Given the description of an element on the screen output the (x, y) to click on. 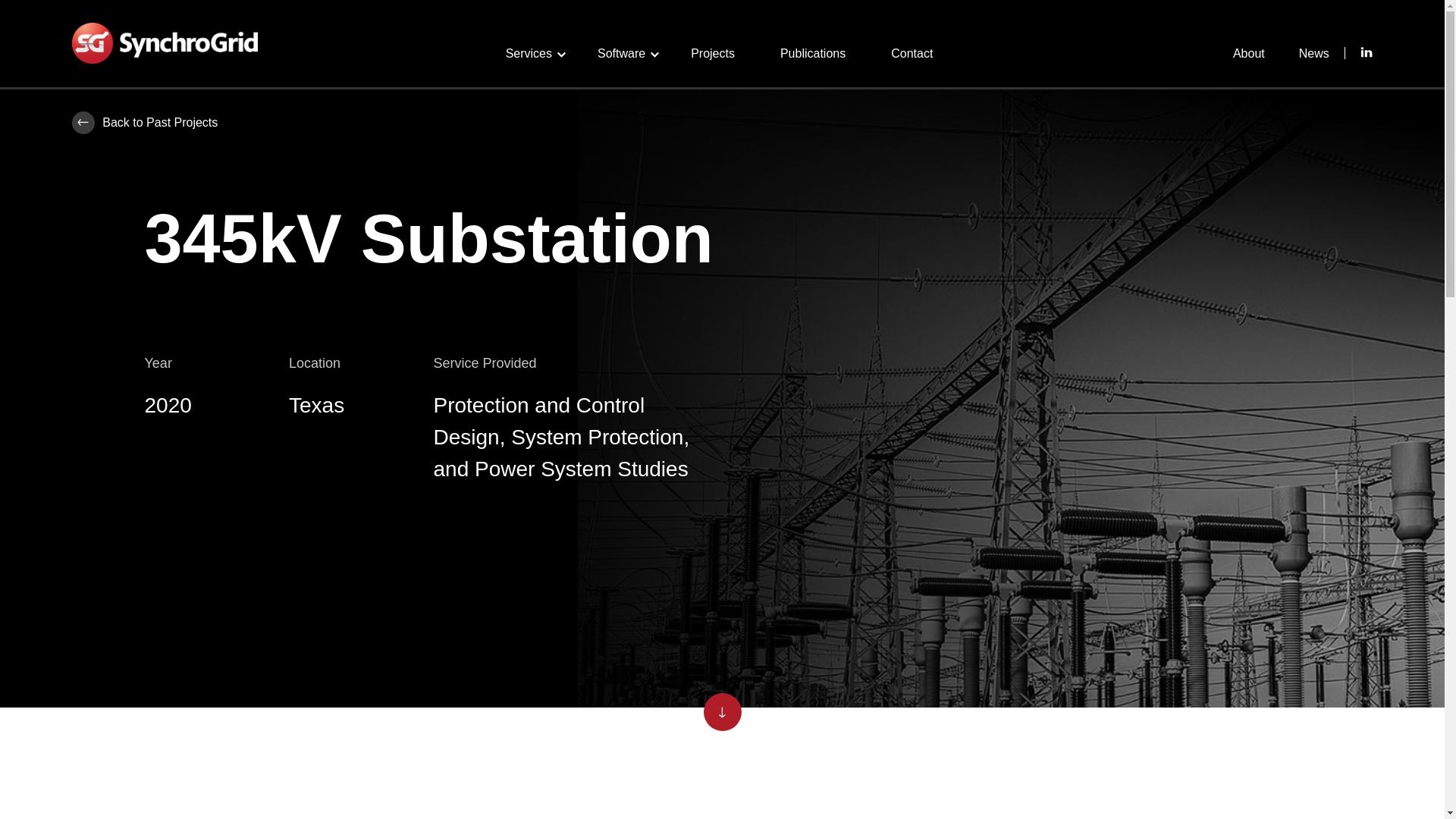
News (1313, 52)
Services (528, 52)
Software (620, 52)
Publications (812, 52)
Projects (712, 52)
About (1249, 52)
Back to Past Projects (143, 122)
Contact (912, 52)
